Given the description of an element on the screen output the (x, y) to click on. 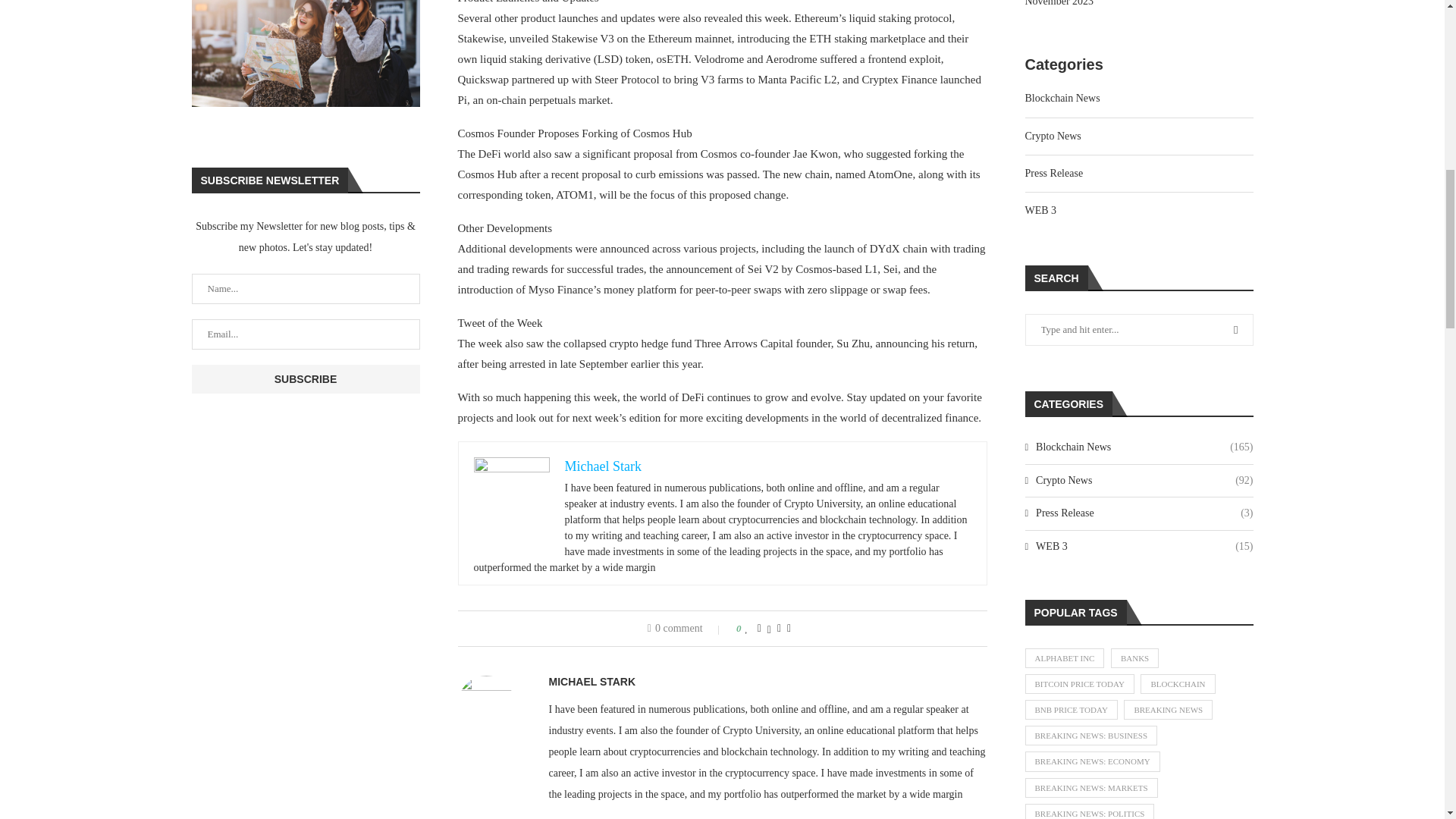
Author Michael Stark (592, 681)
Michael Stark (602, 466)
MICHAEL STARK (592, 681)
Subscribe (304, 378)
